Given the description of an element on the screen output the (x, y) to click on. 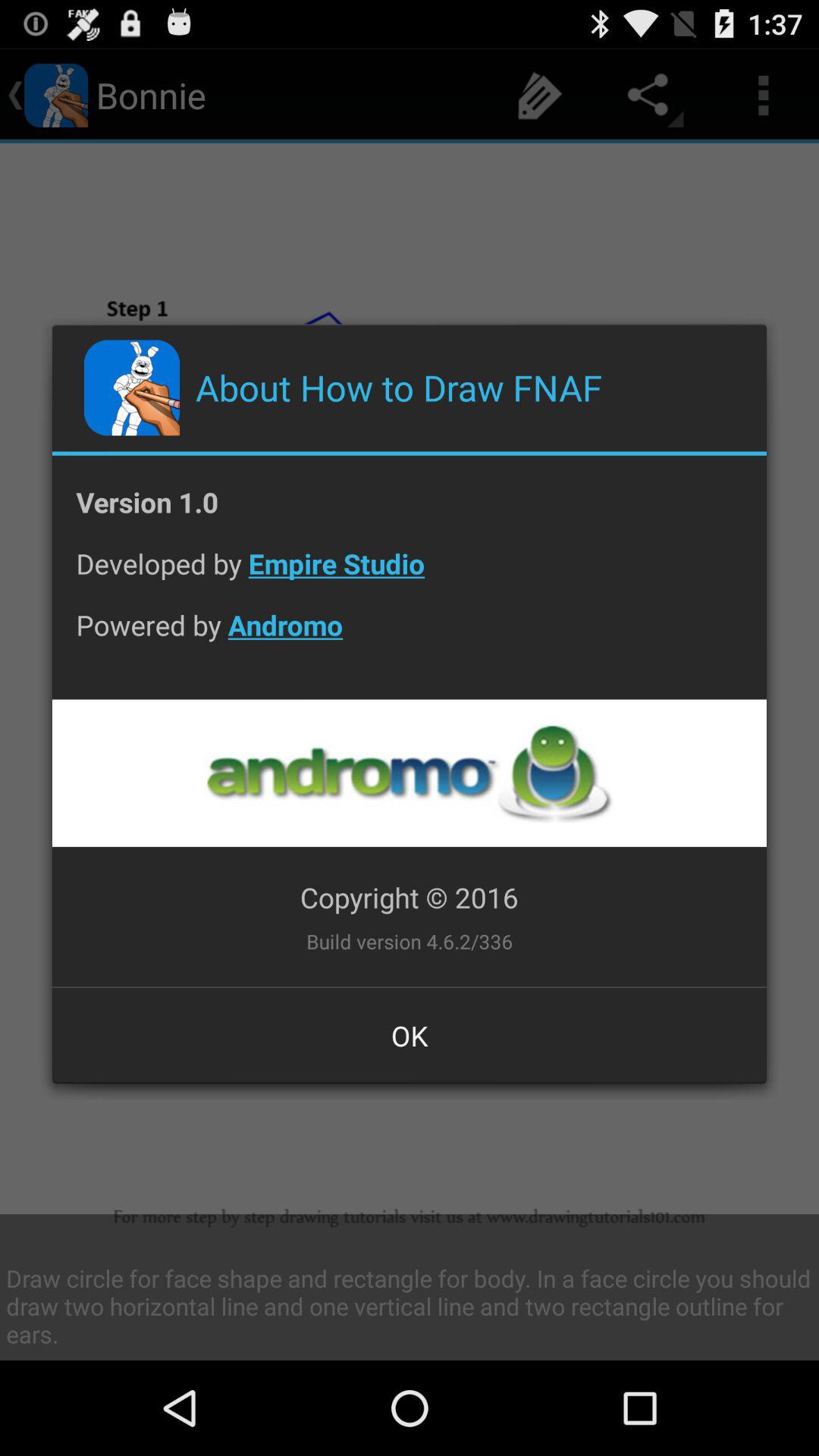
click icon below the developed by empire icon (409, 636)
